Given the description of an element on the screen output the (x, y) to click on. 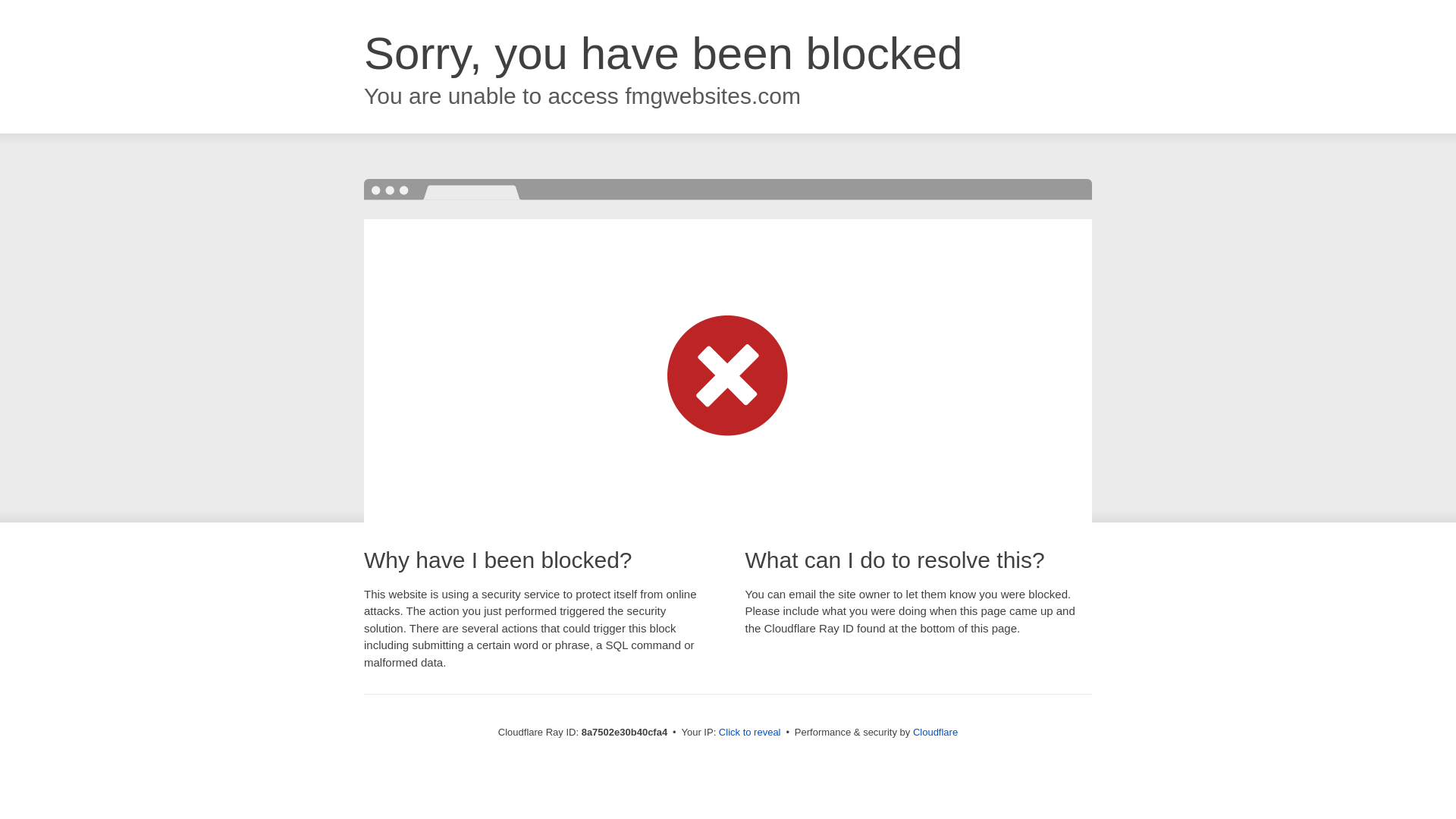
Cloudflare (935, 731)
Click to reveal (749, 732)
